Given the description of an element on the screen output the (x, y) to click on. 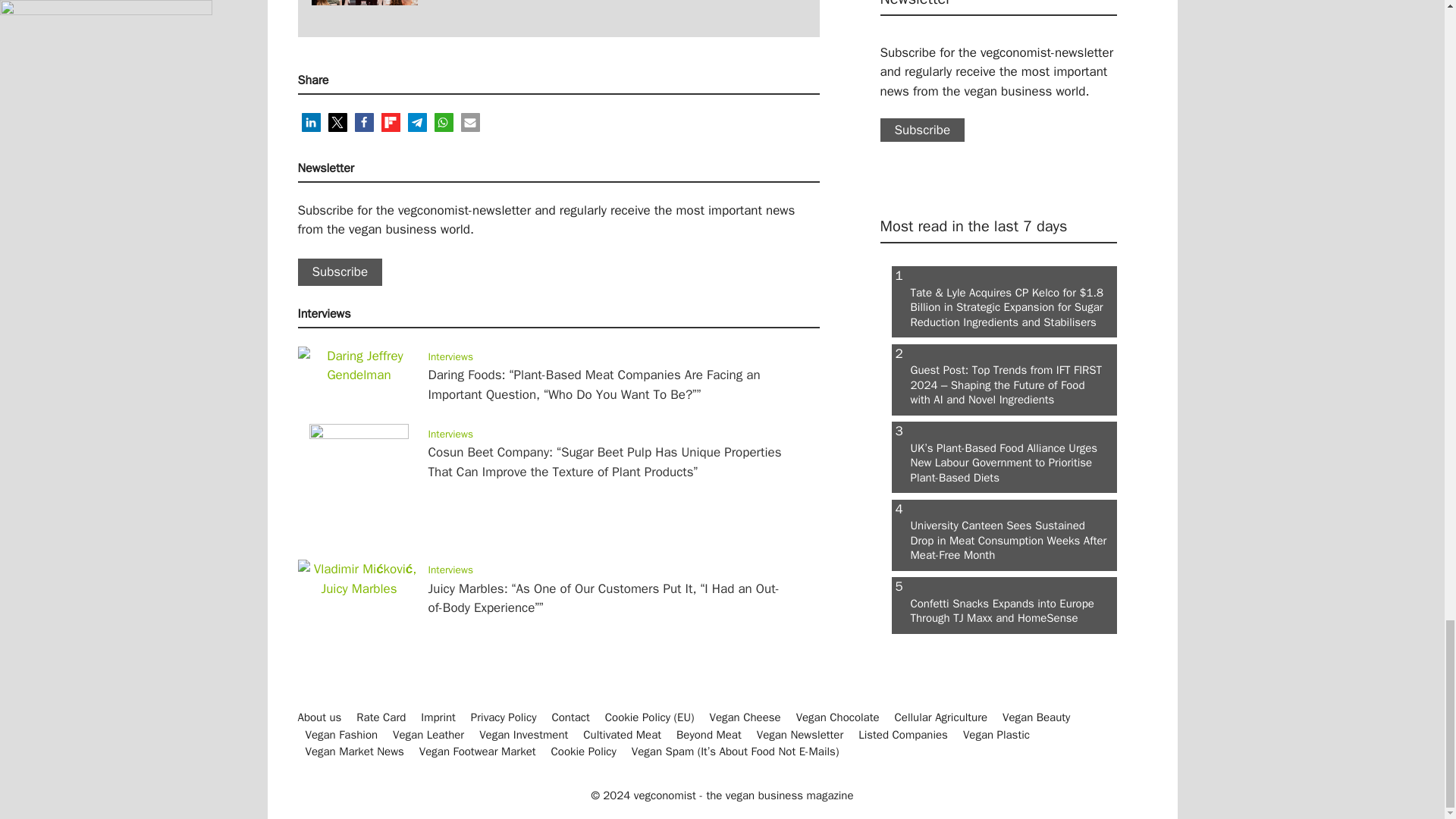
Share on Facebook (364, 122)
Share on LinkedIn (310, 122)
Share on Flipboard (389, 122)
Share on X (336, 122)
